Given the description of an element on the screen output the (x, y) to click on. 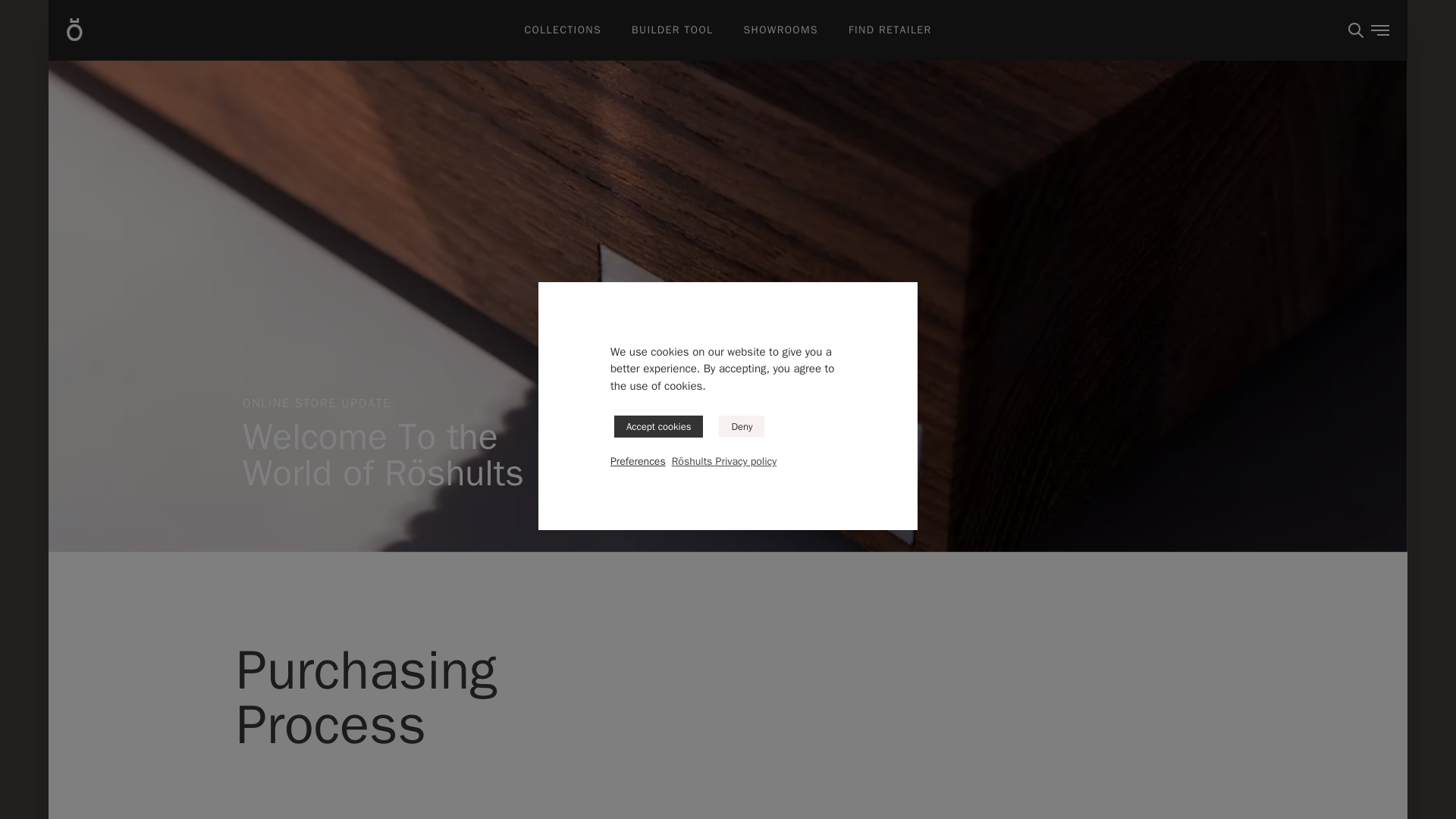
Open menu (1380, 30)
